Given the description of an element on the screen output the (x, y) to click on. 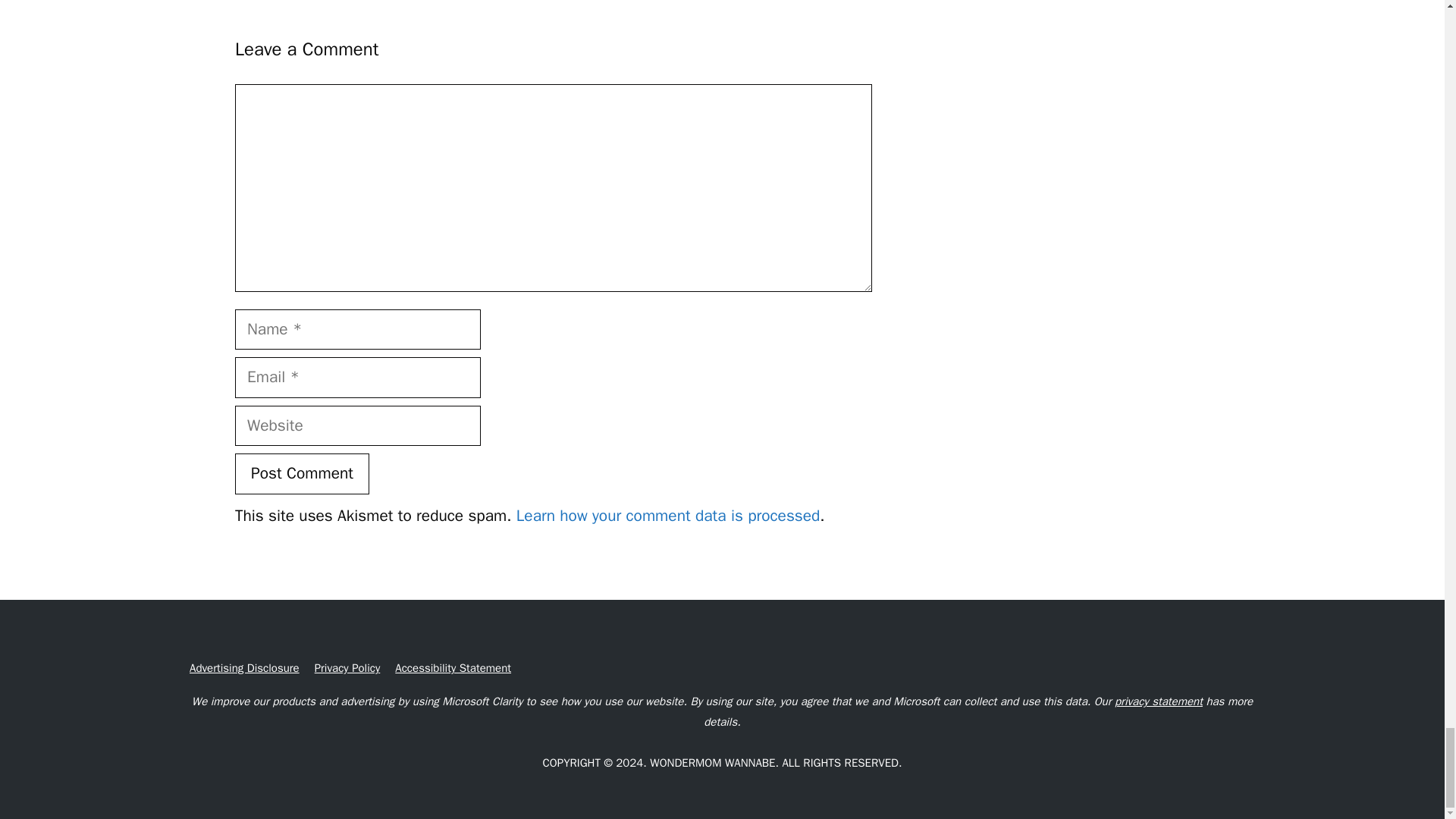
Post Comment (301, 473)
